Given the description of an element on the screen output the (x, y) to click on. 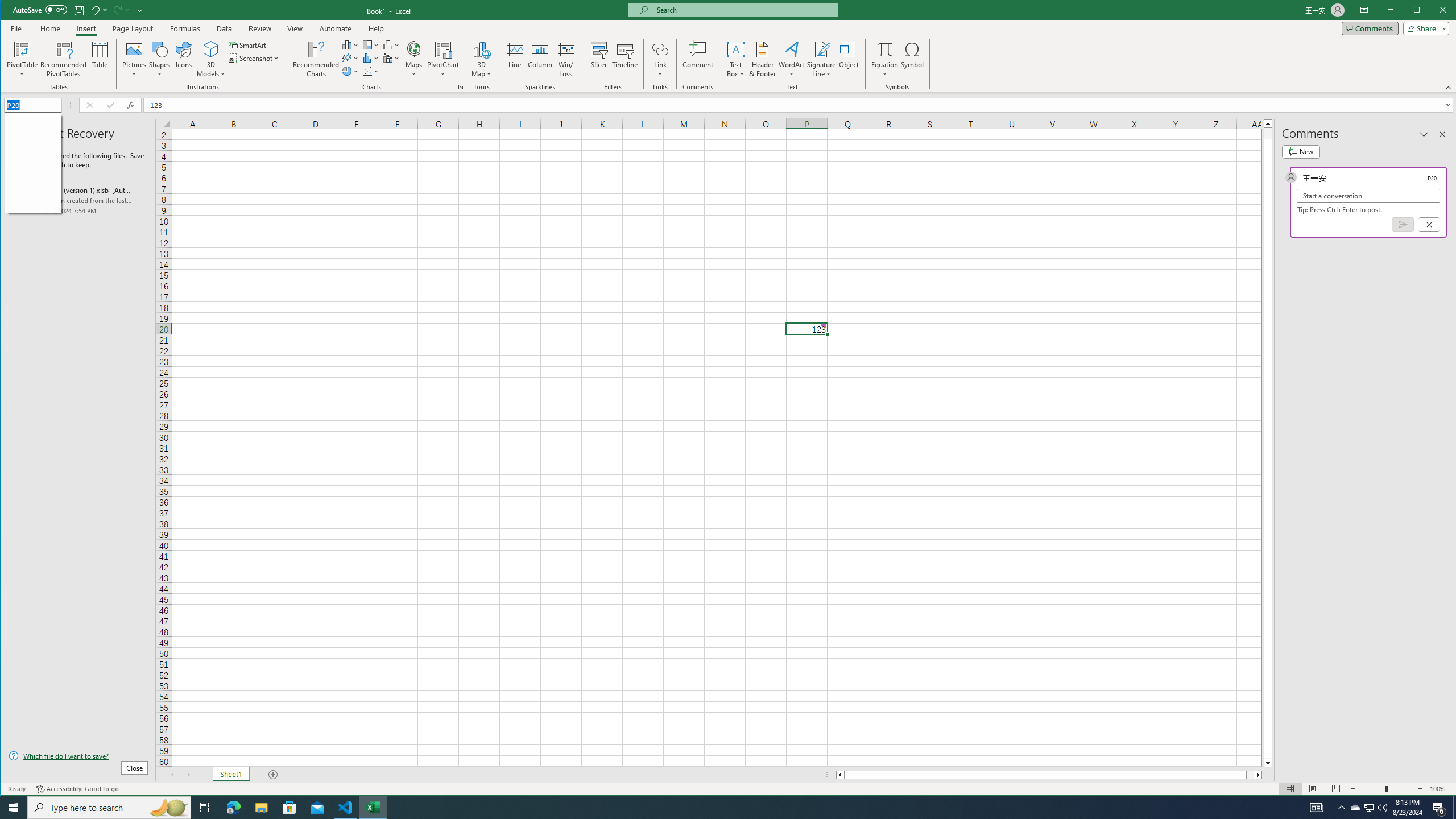
Line (514, 59)
Win/Loss (565, 59)
SmartArt... (248, 44)
